Given the description of an element on the screen output the (x, y) to click on. 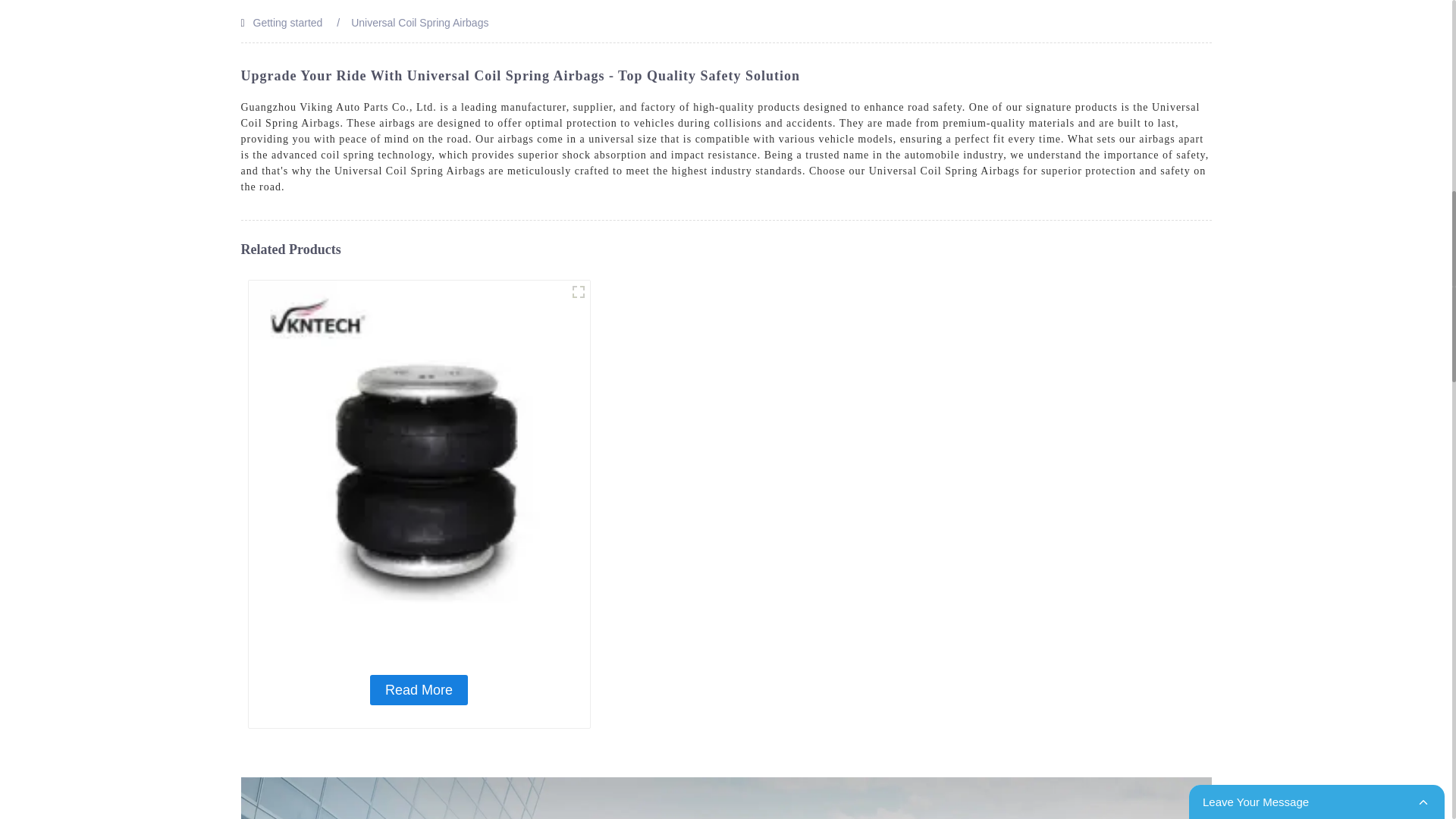
Universal Coil Spring Airbags (418, 22)
Read More (418, 689)
Getting started (288, 22)
